Given the description of an element on the screen output the (x, y) to click on. 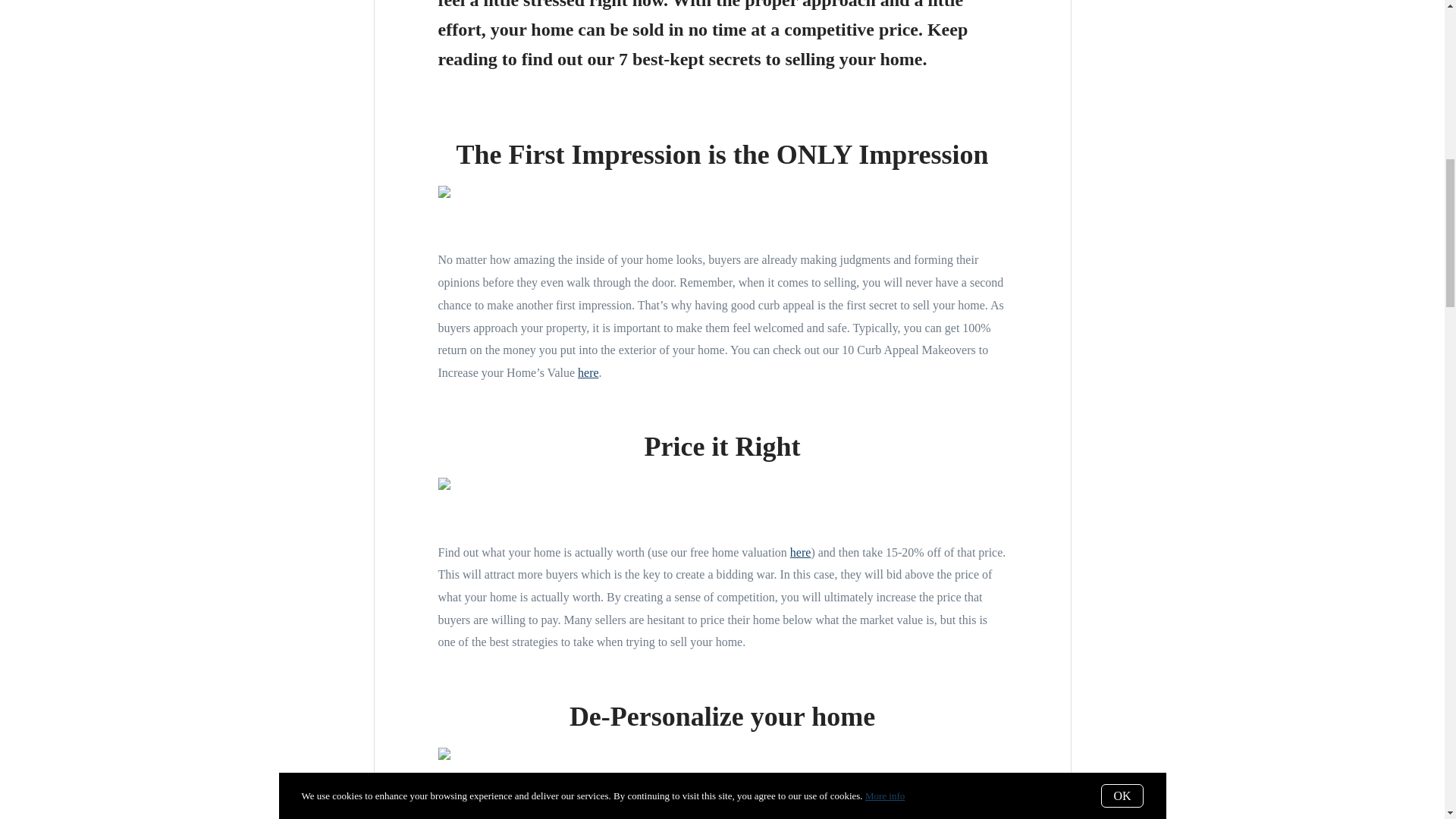
here (588, 372)
here (800, 552)
